Given the description of an element on the screen output the (x, y) to click on. 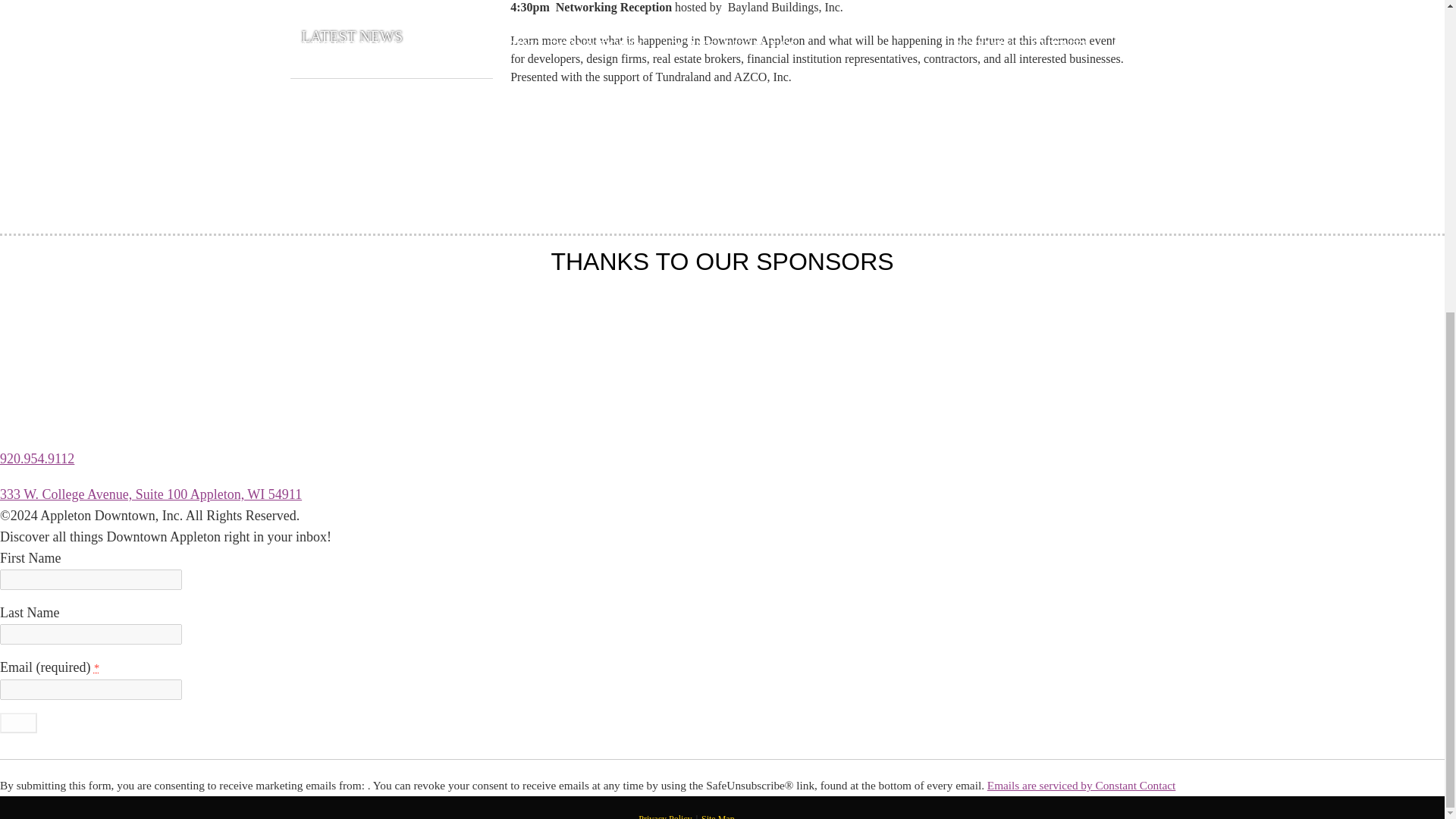
GO! (18, 722)
